Given the description of an element on the screen output the (x, y) to click on. 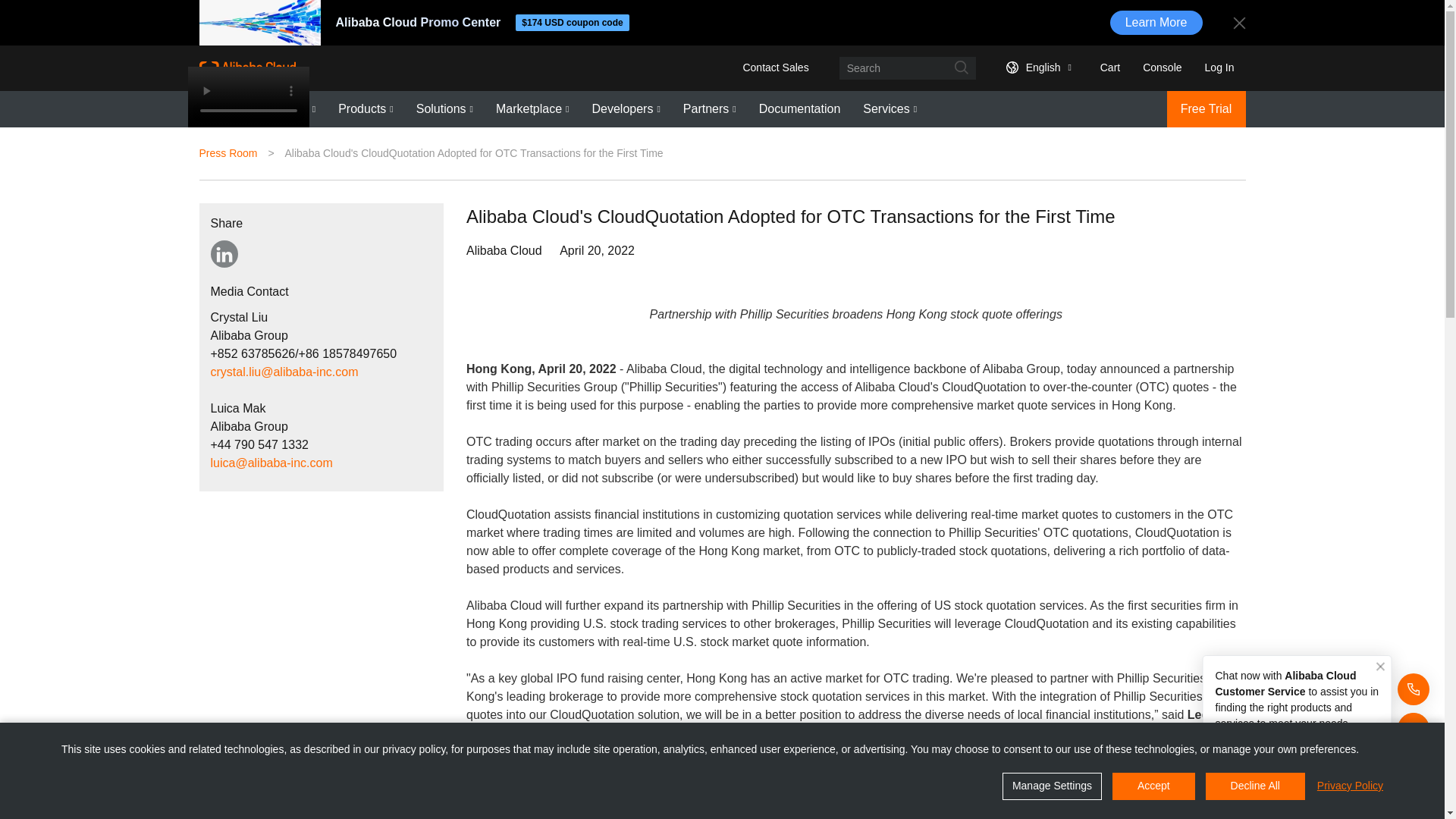
English (1035, 67)
Contact Sales (774, 67)
Alibaba Cloud (246, 67)
